Given the description of an element on the screen output the (x, y) to click on. 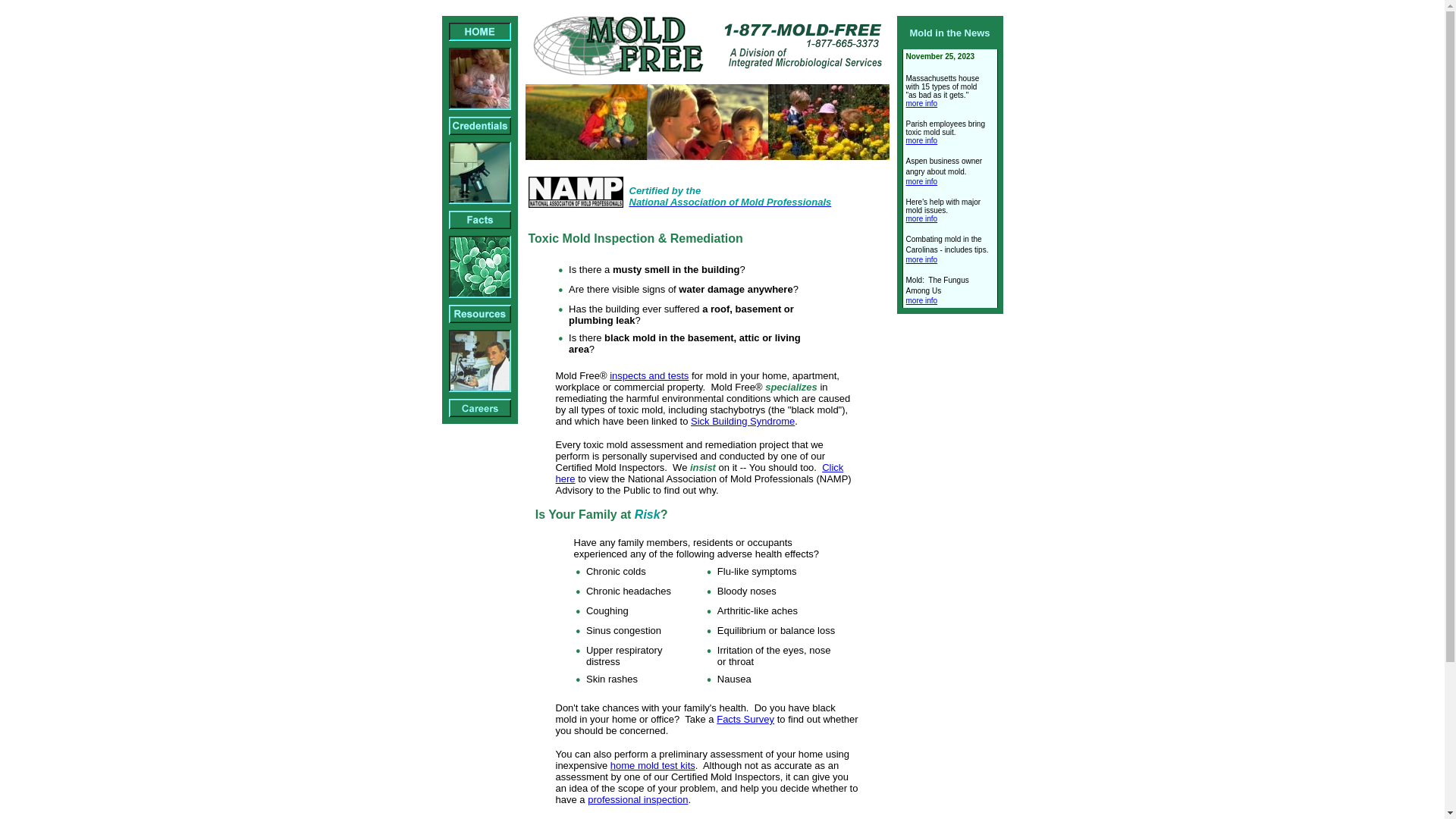
Facts Survey Element type: text (745, 718)
more info Element type: text (921, 259)
more info Element type: text (921, 140)
Sick Building Syndrome Element type: text (742, 420)
more info Element type: text (921, 103)
home mold test kits Element type: text (652, 765)
more info Element type: text (921, 218)
professional inspection Element type: text (637, 799)
National Association of Mold Professionals Element type: text (730, 201)
more info Element type: text (921, 181)
more info Element type: text (921, 300)
inspects and tests Element type: text (648, 375)
Click here Element type: text (699, 472)
